Given the description of an element on the screen output the (x, y) to click on. 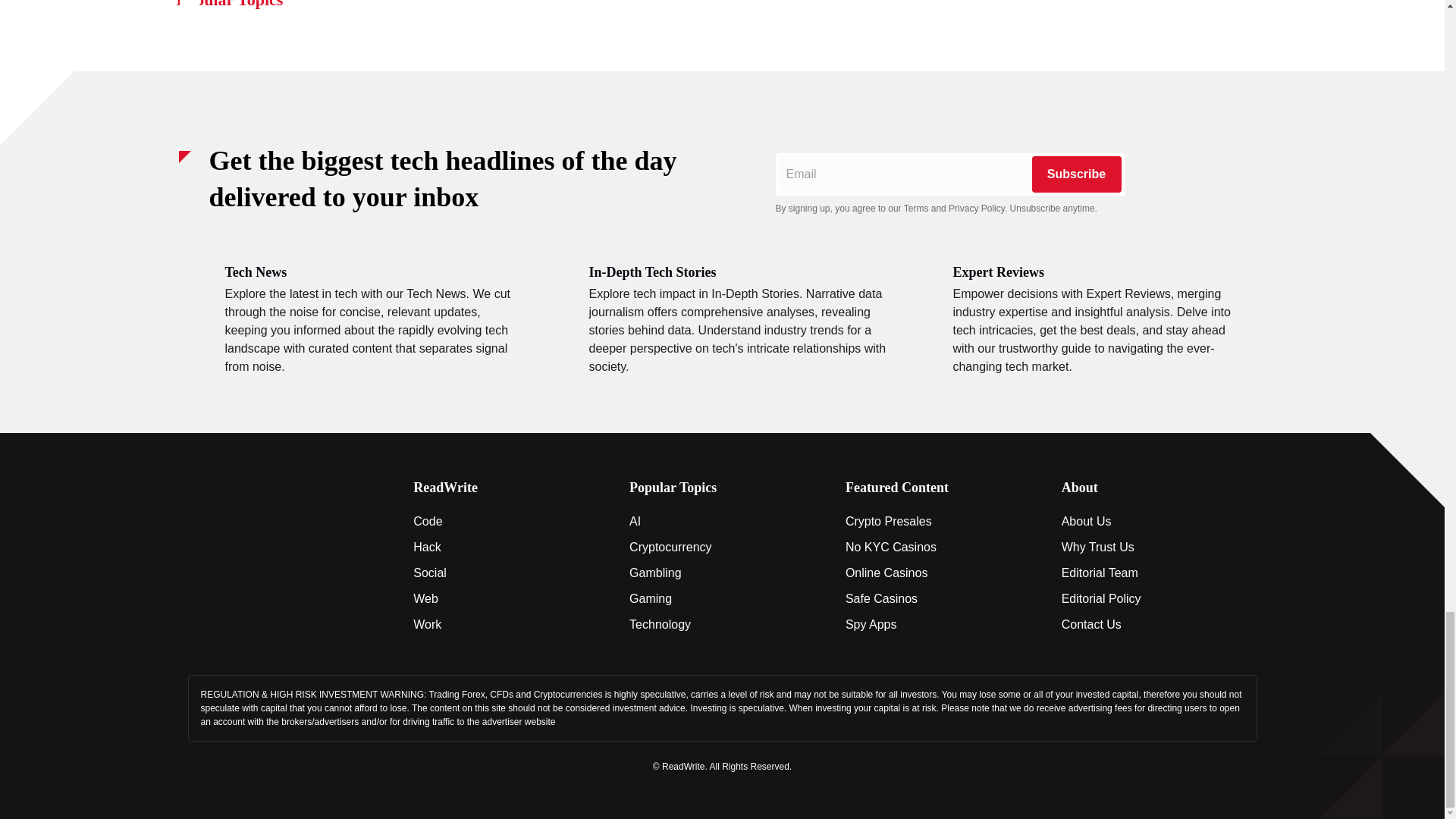
Subscribe (1075, 174)
